Given the description of an element on the screen output the (x, y) to click on. 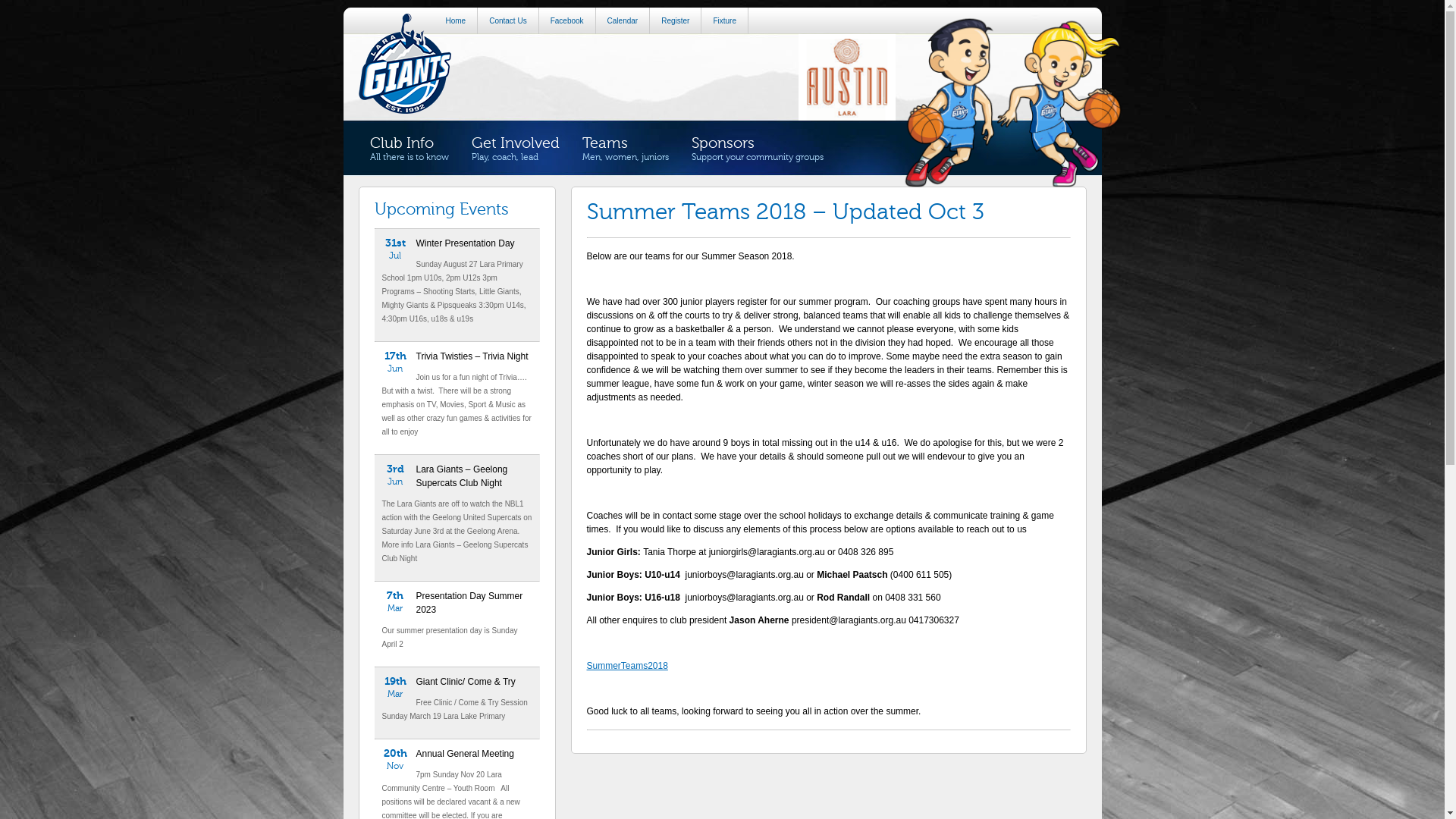
SummerTeams2018 Element type: text (627, 665)
Get Involved
Play, coach, lead Element type: text (514, 148)
Sponsors
Support your community groups Element type: text (756, 148)
Club Info
All there is to know Element type: text (408, 148)
Contact Us Element type: text (507, 20)
Teams
Men, women, juniors Element type: text (624, 148)
Fixture Element type: text (724, 20)
Register Element type: text (675, 20)
Facebook Element type: text (567, 20)
Calendar Element type: text (623, 20)
Home Element type: text (455, 20)
